Given the description of an element on the screen output the (x, y) to click on. 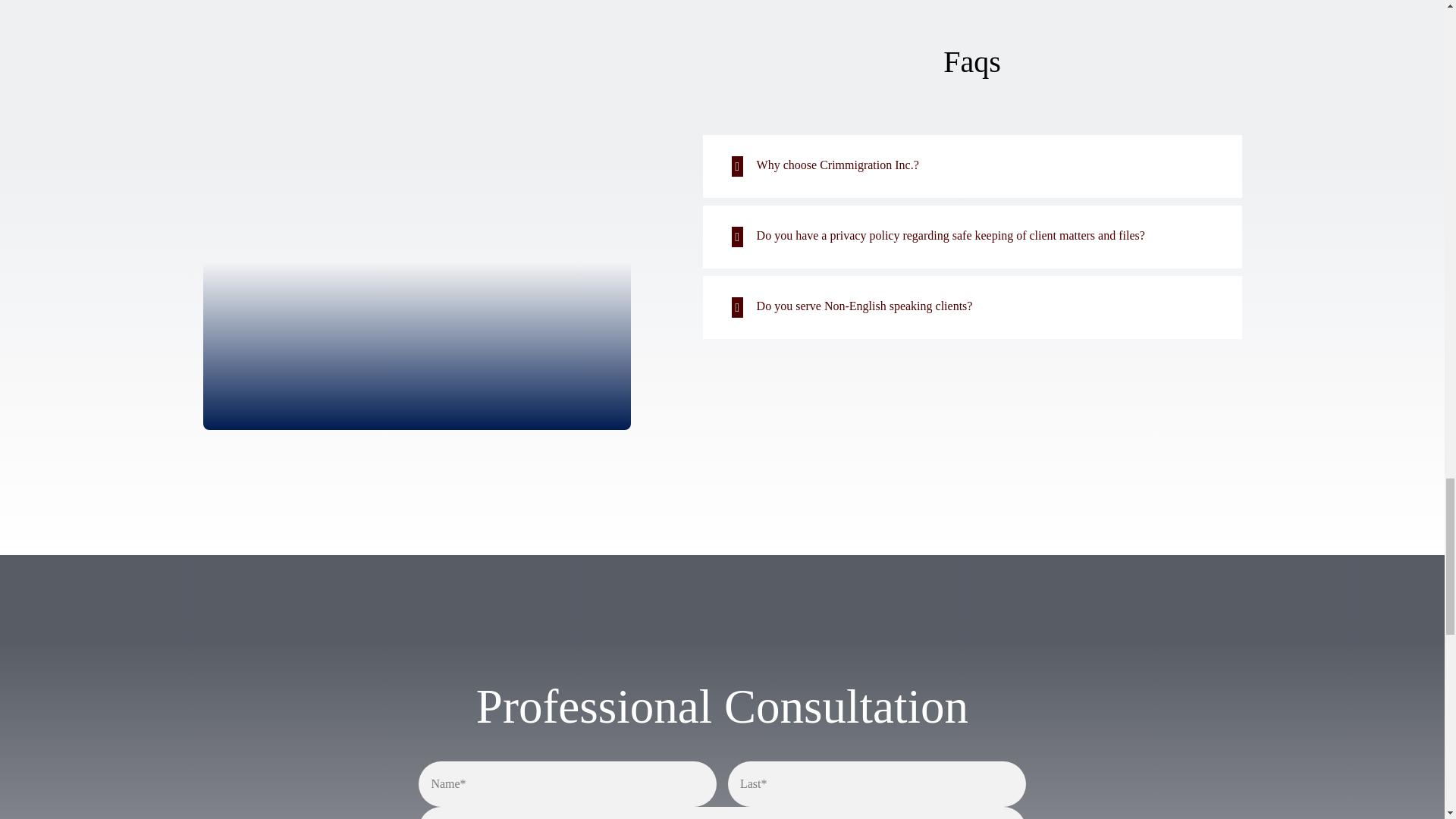
Why choose Crimmigration Inc.? (972, 166)
Send Message (722, 790)
Do you serve Non-English speaking clients? (972, 307)
